Given the description of an element on the screen output the (x, y) to click on. 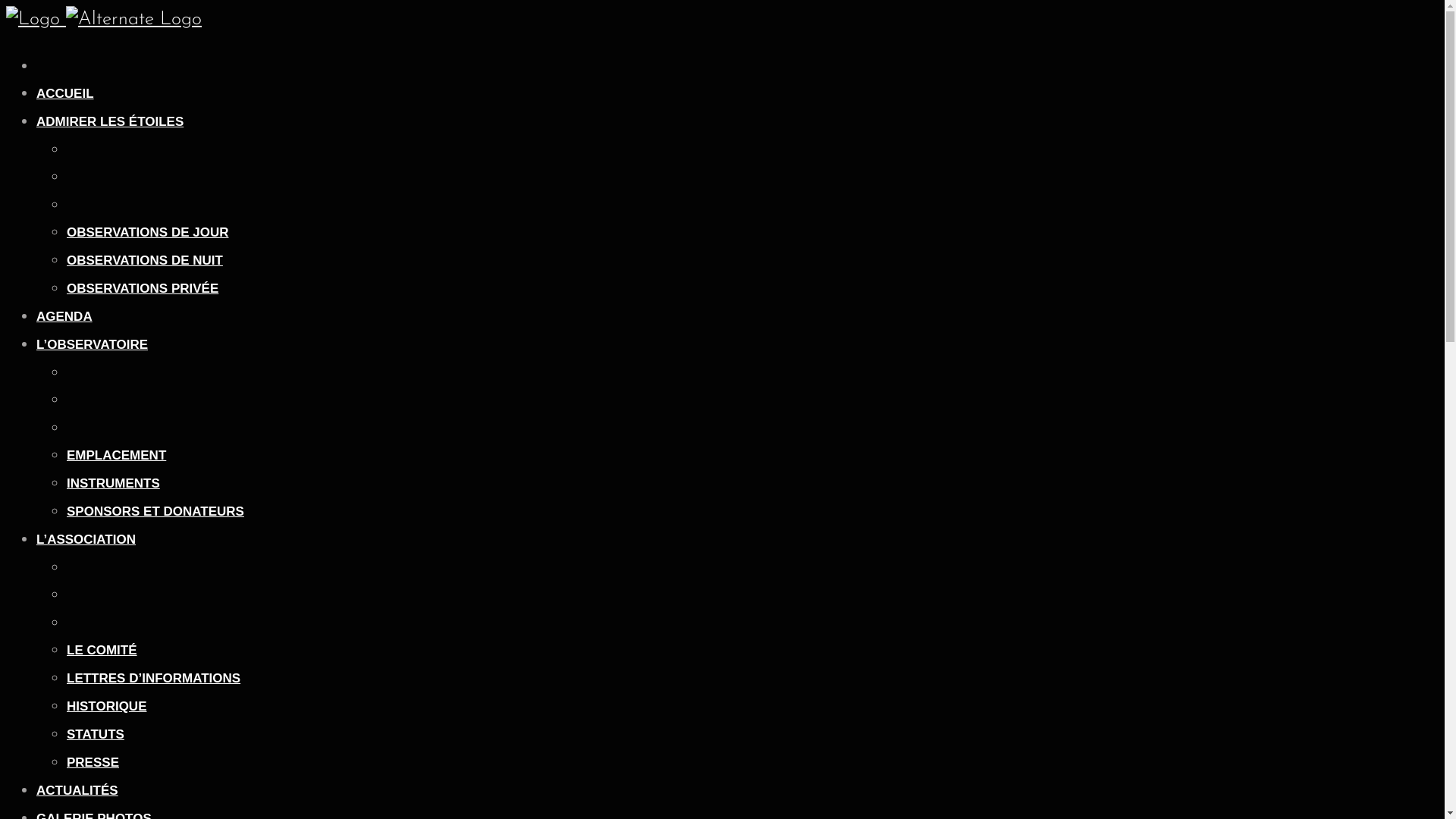
OBSERVATIONS DE JOUR Element type: text (147, 232)
Logo Element type: hover (32, 19)
AGENDA Element type: text (64, 316)
ACCUEIL Element type: text (65, 93)
STATUTS Element type: text (95, 734)
INSTRUMENTS Element type: text (113, 483)
HISTORIQUE Element type: text (106, 706)
OBSERVATIONS DE NUIT Element type: text (144, 260)
Alternate Logo Element type: hover (133, 19)
EMPLACEMENT Element type: text (116, 455)
SPONSORS ET DONATEURS Element type: text (155, 511)
PRESSE Element type: text (92, 762)
Astroval Element type: hover (103, 18)
